Given the description of an element on the screen output the (x, y) to click on. 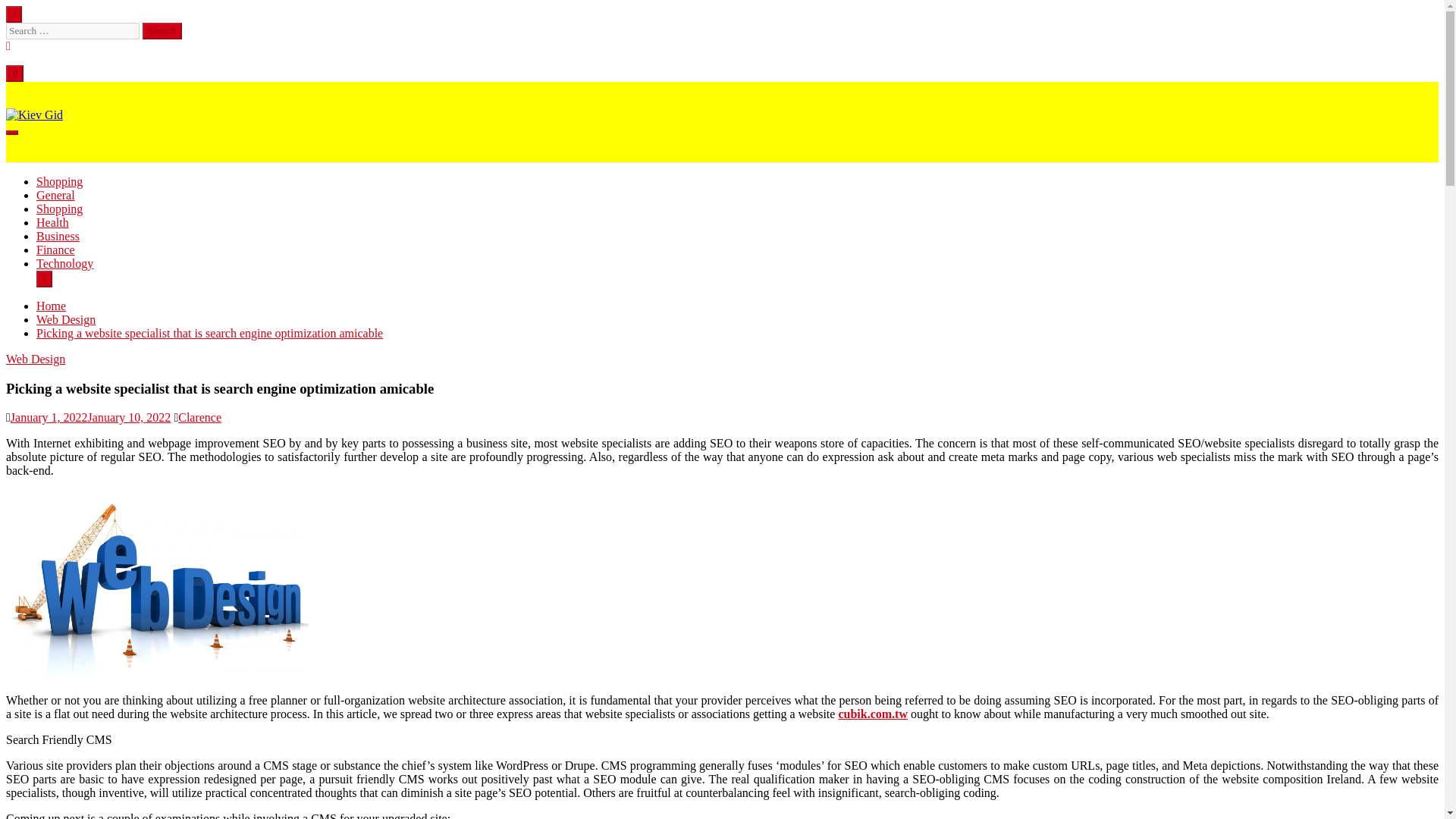
Health (52, 222)
General (55, 195)
Technology (64, 263)
January 1, 2022January 10, 2022 (90, 417)
Web Design (66, 318)
Search (162, 30)
Shopping (59, 208)
cubik.com.tw (872, 713)
Kiev Gid (27, 140)
